Given the description of an element on the screen output the (x, y) to click on. 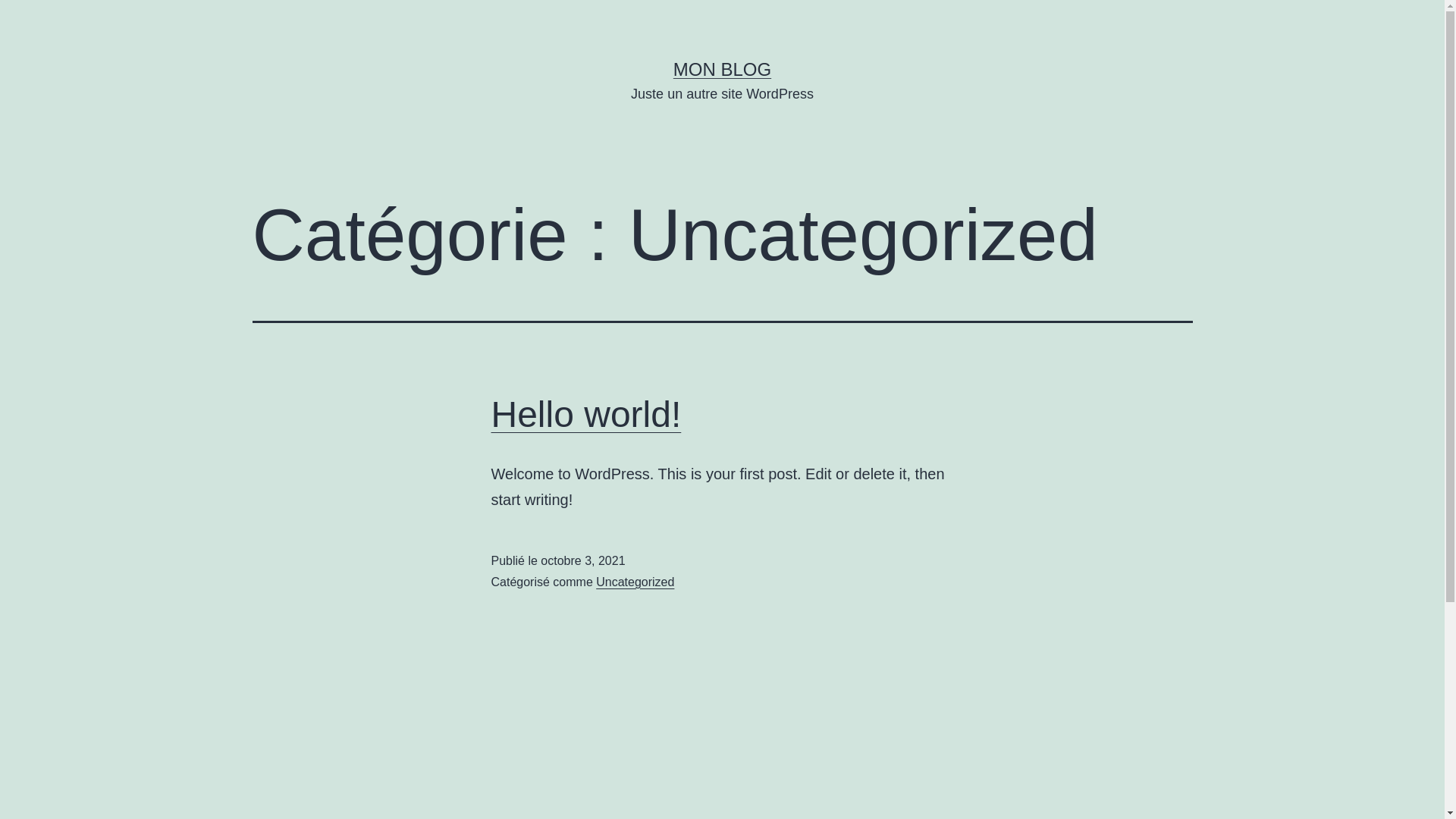
Uncategorized Element type: text (635, 581)
MON BLOG Element type: text (722, 69)
Hello world! Element type: text (586, 414)
